Given the description of an element on the screen output the (x, y) to click on. 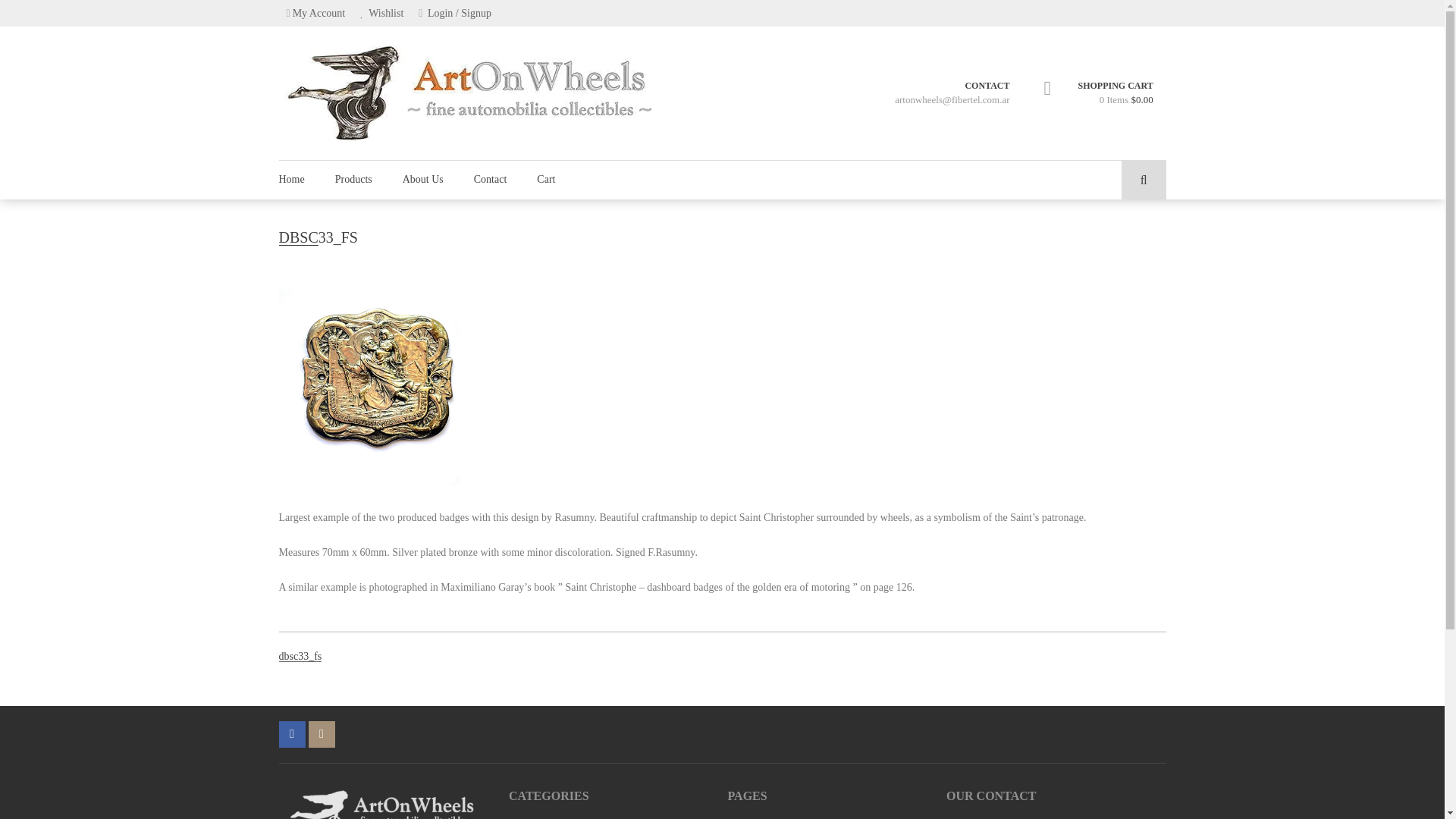
View your shopping cart (1115, 92)
Cart (545, 179)
Wishlist (381, 13)
Home (299, 179)
Wishlist (381, 13)
My Account (316, 13)
About Us (422, 179)
Products (353, 179)
Contact (490, 179)
